Given the description of an element on the screen output the (x, y) to click on. 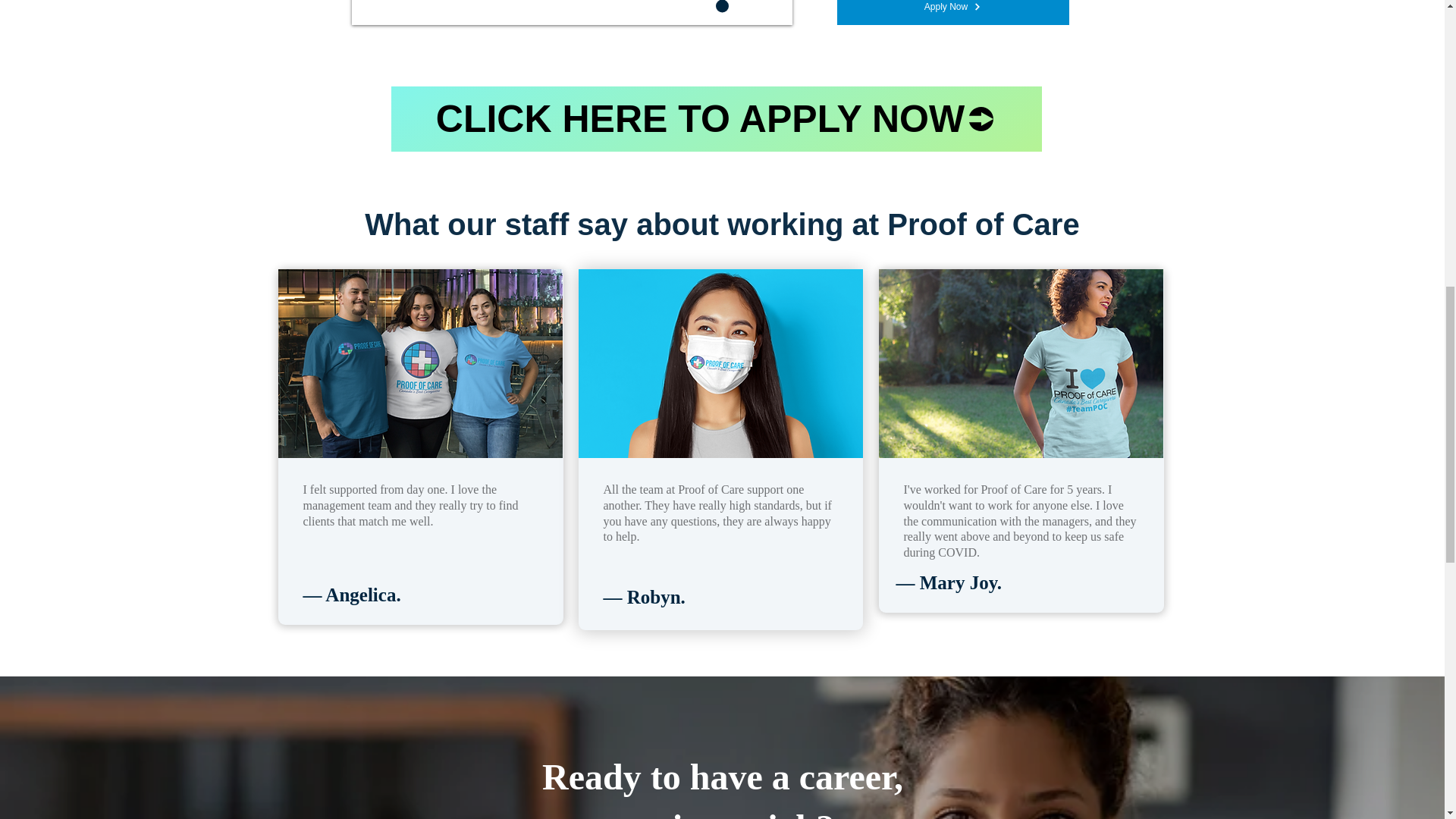
Apply Now (952, 12)
CLICK HERE TO APPLY NOW (716, 118)
